Given the description of an element on the screen output the (x, y) to click on. 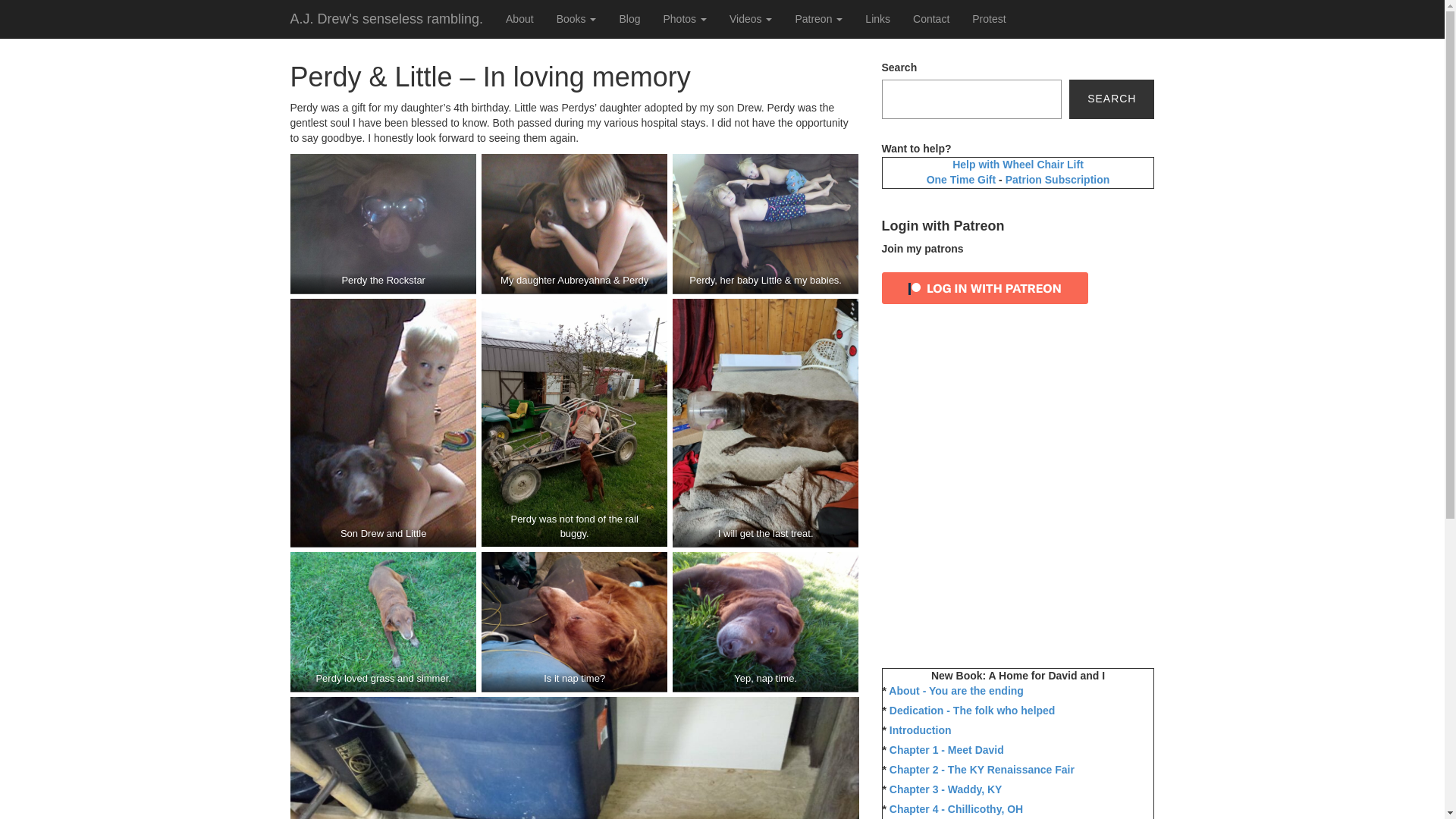
About (519, 18)
One Time Gift (962, 179)
Videos (750, 18)
A.J. Drew's senseless rambling. (387, 18)
About (519, 18)
Blog (628, 18)
Patreon (818, 18)
Books (576, 18)
Photos (683, 18)
Videos (750, 18)
